Given the description of an element on the screen output the (x, y) to click on. 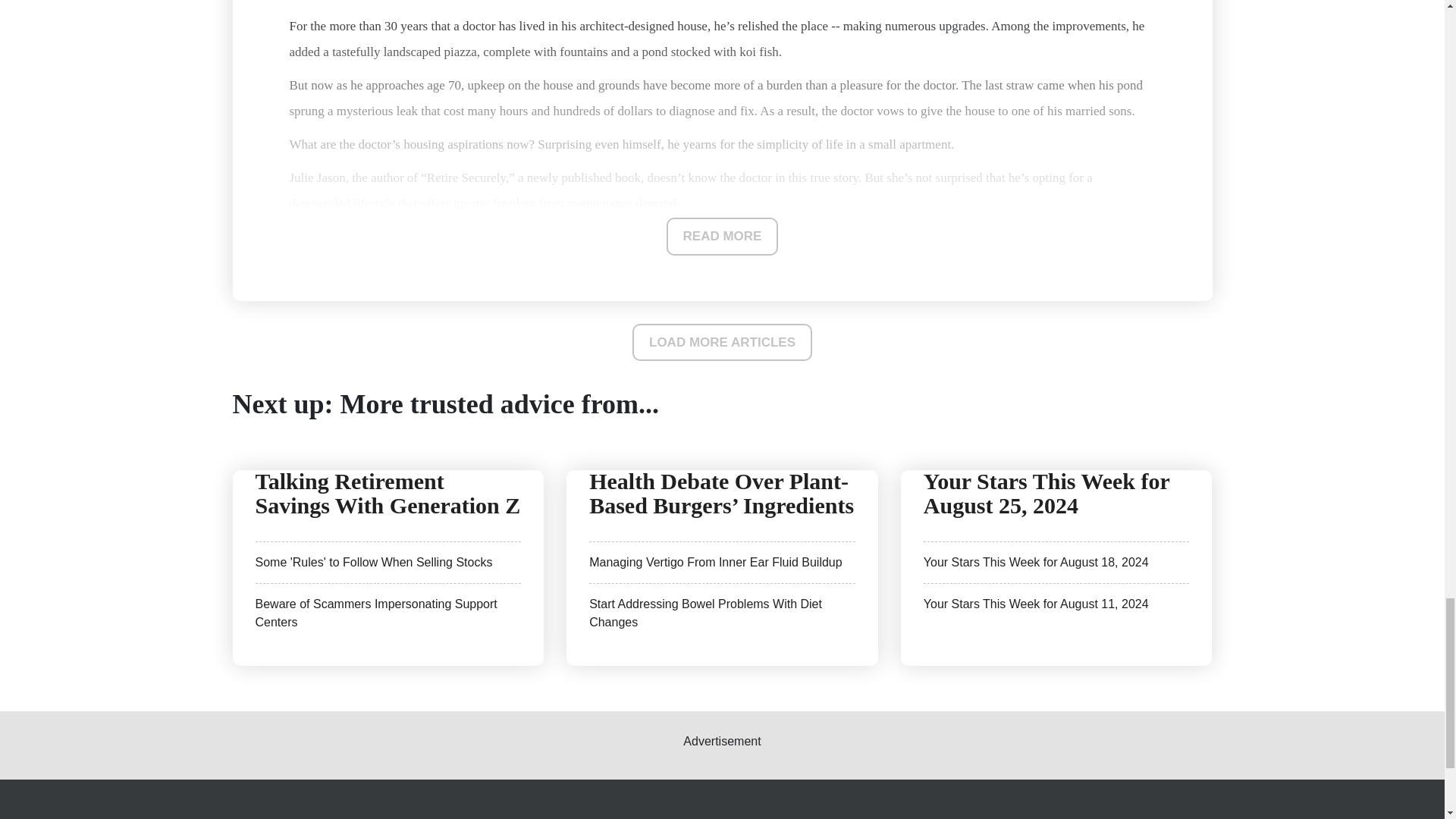
Your Stars This Week for August 18, 2024 (1035, 562)
Talking Retirement Savings With Generation Z (386, 492)
Your Stars This Week for August 25, 2024 (1046, 492)
READ MORE (722, 236)
LOAD MORE ARTICLES (721, 341)
Your Stars This Week for August 11, 2024 (1035, 603)
Managing Vertigo From Inner Ear Fluid Buildup (716, 562)
Beware of Scammers Impersonating Support Centers (375, 612)
Start Addressing Bowel Problems With Diet Changes (705, 612)
Some 'Rules' to Follow When Selling Stocks (373, 562)
